Given the description of an element on the screen output the (x, y) to click on. 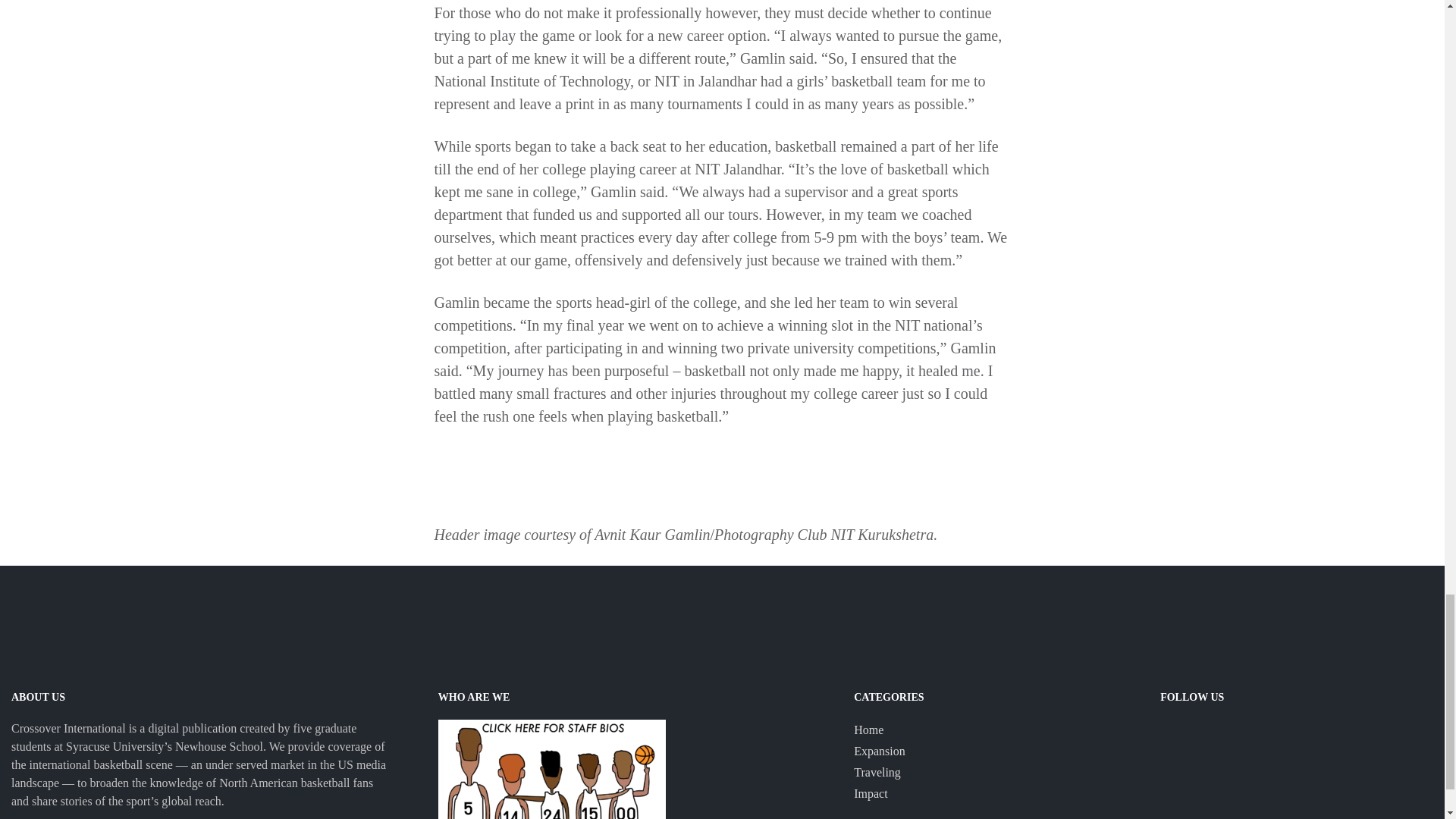
Traveling (877, 771)
Impact (869, 793)
Expansion (879, 750)
Who are we (551, 769)
Home (868, 729)
